Given the description of an element on the screen output the (x, y) to click on. 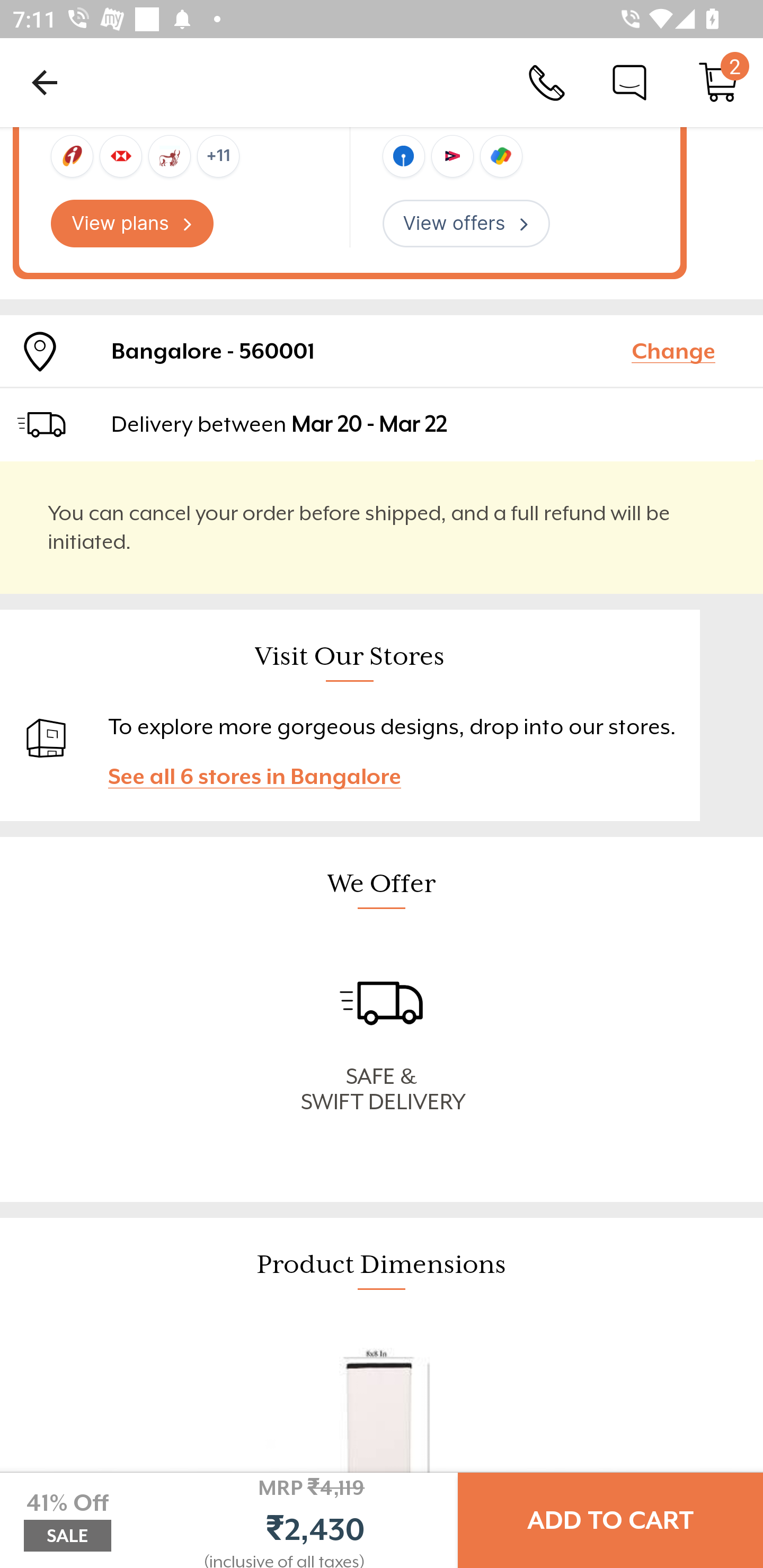
Navigate up (44, 82)
Call Us (546, 81)
Chat (629, 81)
Cart (718, 81)
View plans (132, 223)
View offers (465, 223)
 Bangalore - 560001 Change (381, 351)
Delivery between Mar 20 - Mar 22 (428, 423)
See all 6 stores in Bangalore (262, 776)
ADD TO CART (610, 1520)
